Given the description of an element on the screen output the (x, y) to click on. 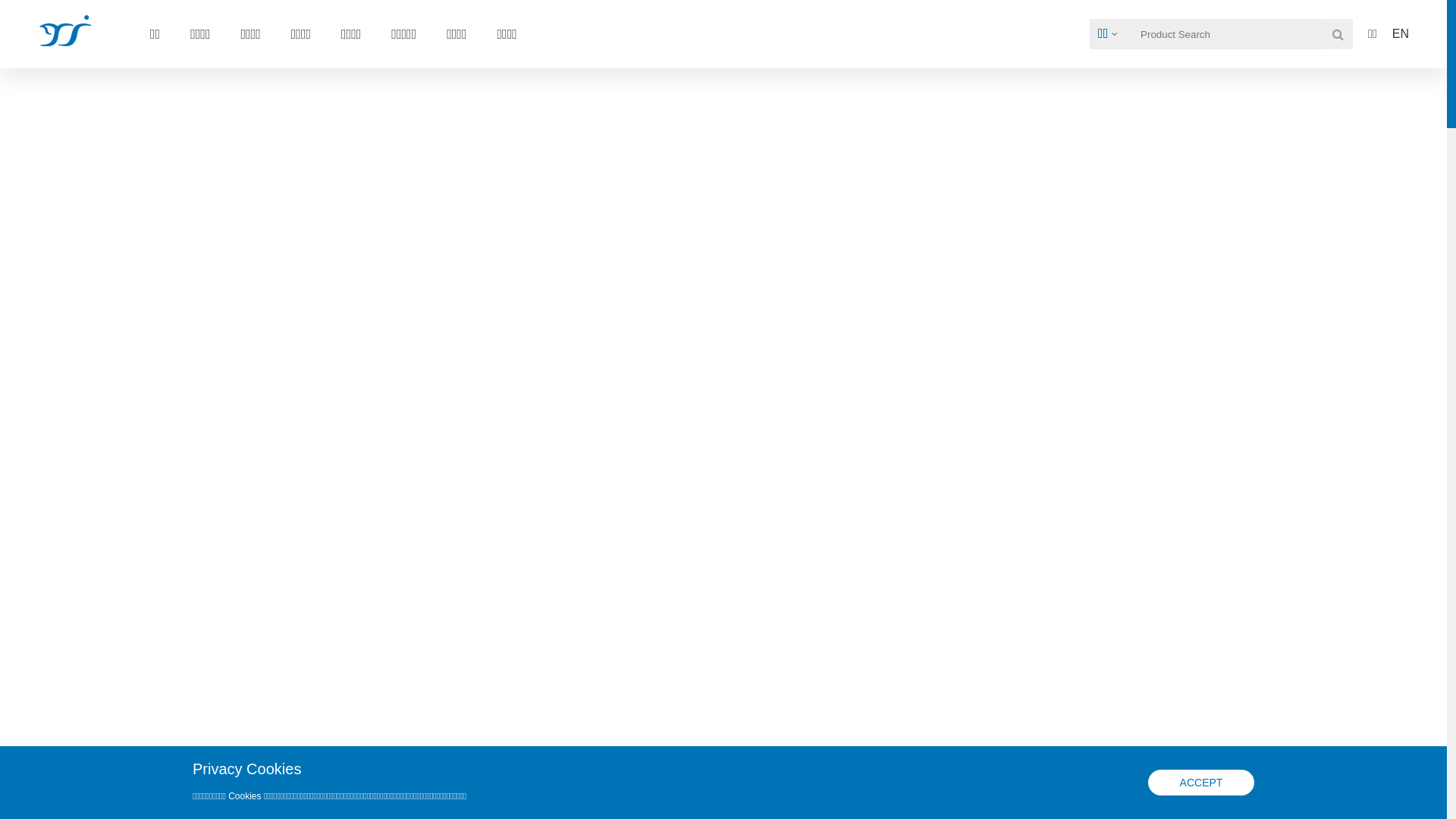
EN Element type: text (1400, 33)
ACCEPT Element type: text (1201, 782)
